Given the description of an element on the screen output the (x, y) to click on. 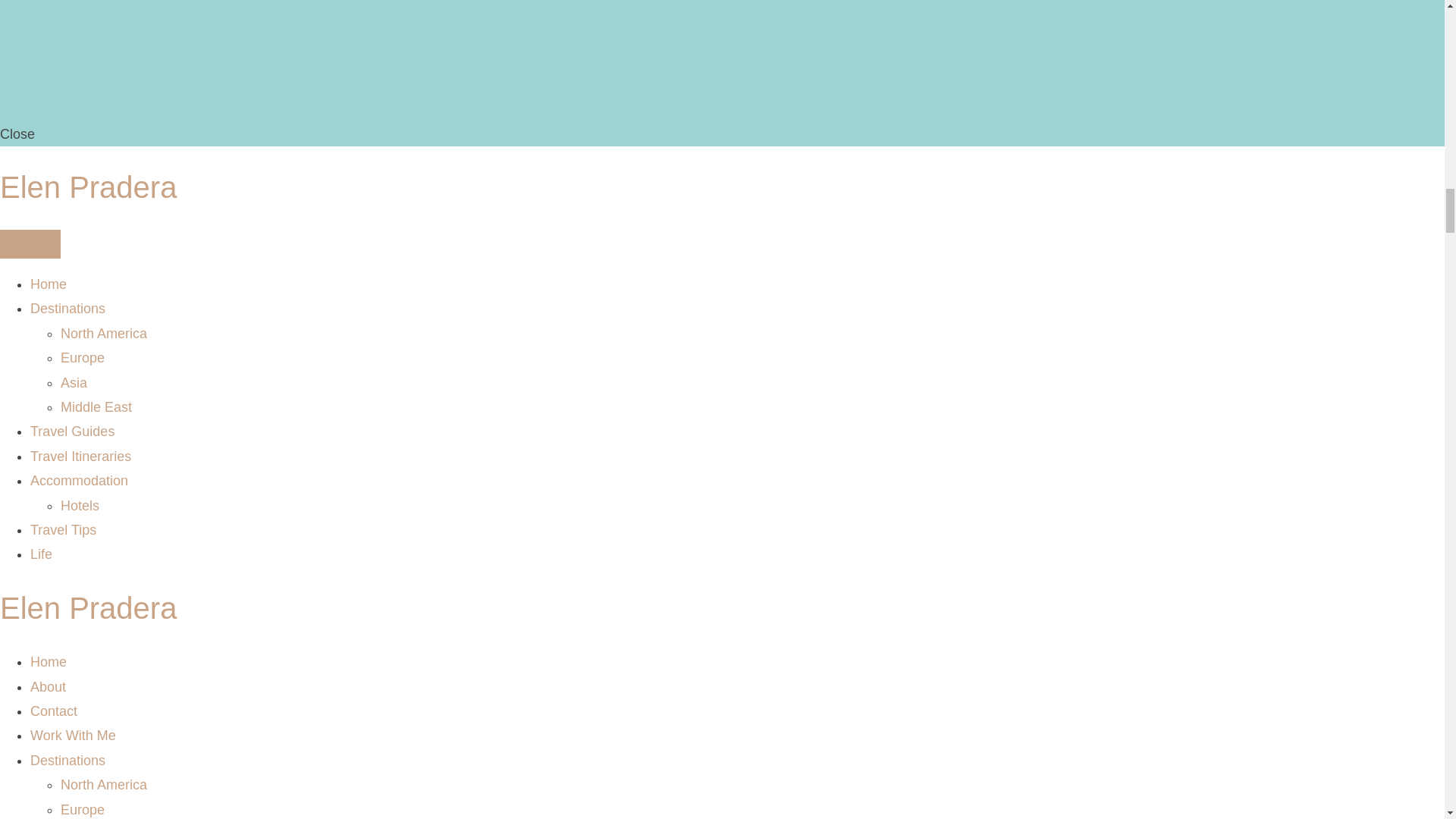
Hotels (80, 505)
North America (104, 333)
Home (48, 661)
North America (104, 784)
Elen Pradera (88, 607)
Destinations (67, 308)
Europe (82, 809)
Accommodation (79, 480)
Life (41, 554)
About (47, 686)
Elen Pradera (88, 186)
Elen Pradera (88, 607)
Destinations (67, 760)
Work With Me (73, 735)
Home (48, 283)
